Given the description of an element on the screen output the (x, y) to click on. 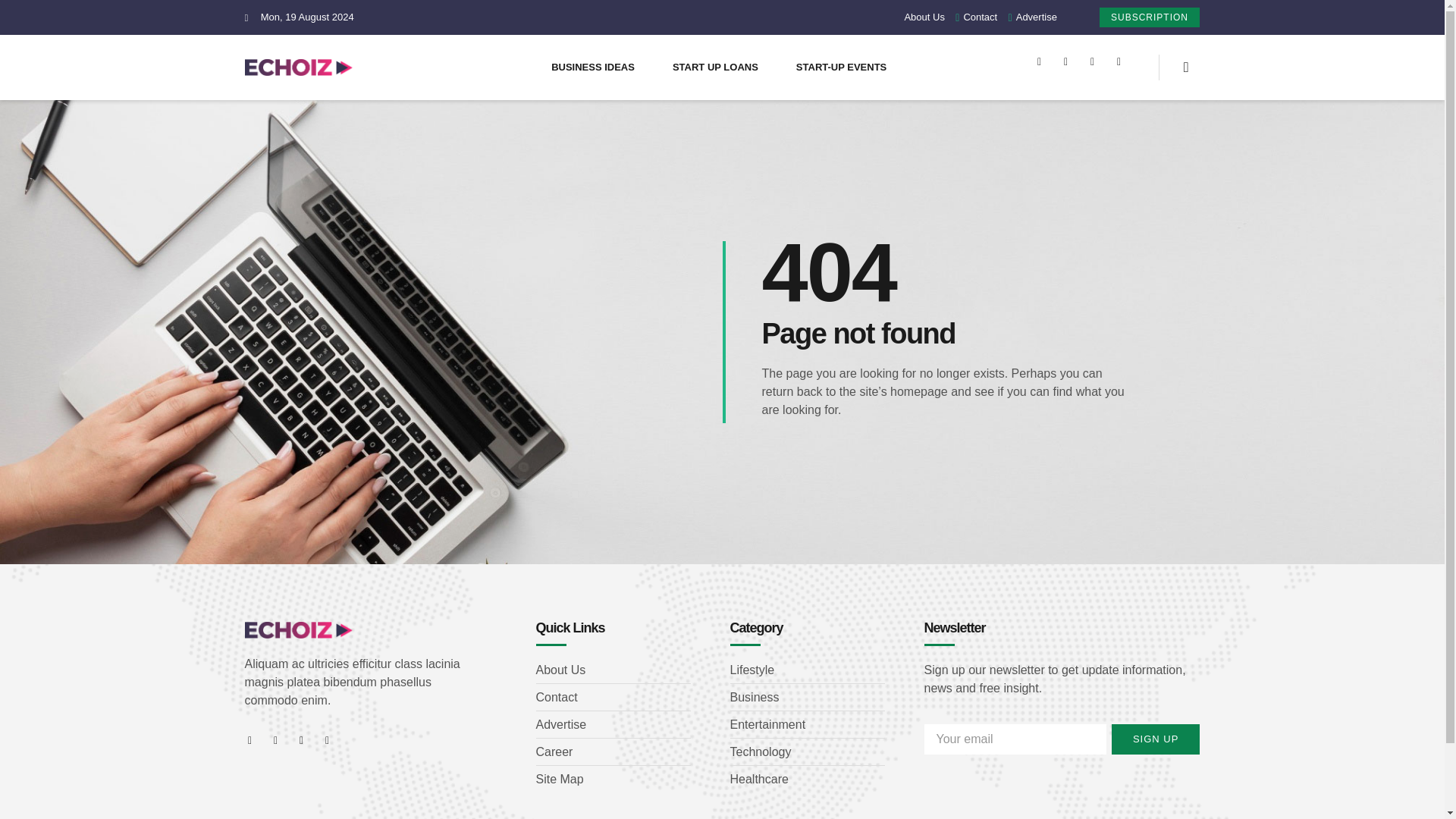
Contact (971, 16)
Technology (806, 751)
Contact (612, 697)
About Us (612, 669)
Healthcare (806, 779)
Advertise (612, 724)
START UP LOANS (715, 67)
Lifestyle (806, 669)
About Us (923, 17)
SIGN UP (1155, 738)
